Given the description of an element on the screen output the (x, y) to click on. 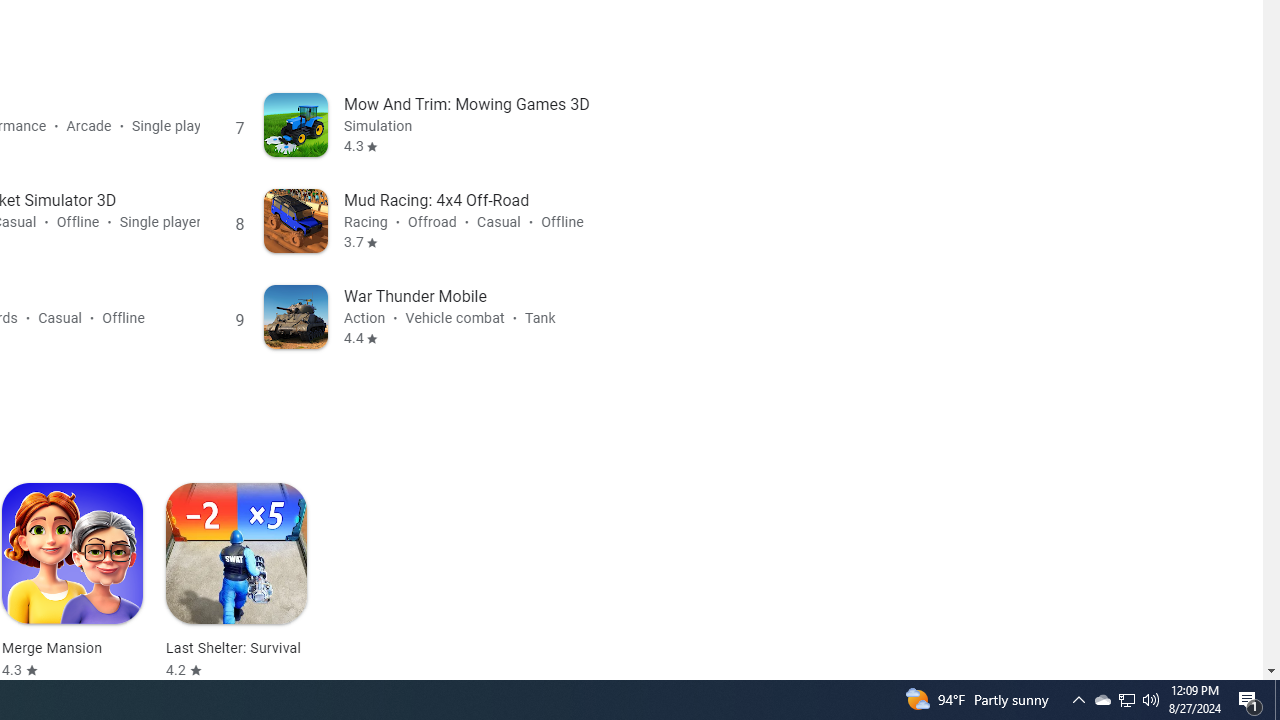
Last Shelter: Survival Rated 4.2 stars out of five stars (236, 581)
Merge Mansion Rated 4.3 stars out of five stars (72, 581)
